Given the description of an element on the screen output the (x, y) to click on. 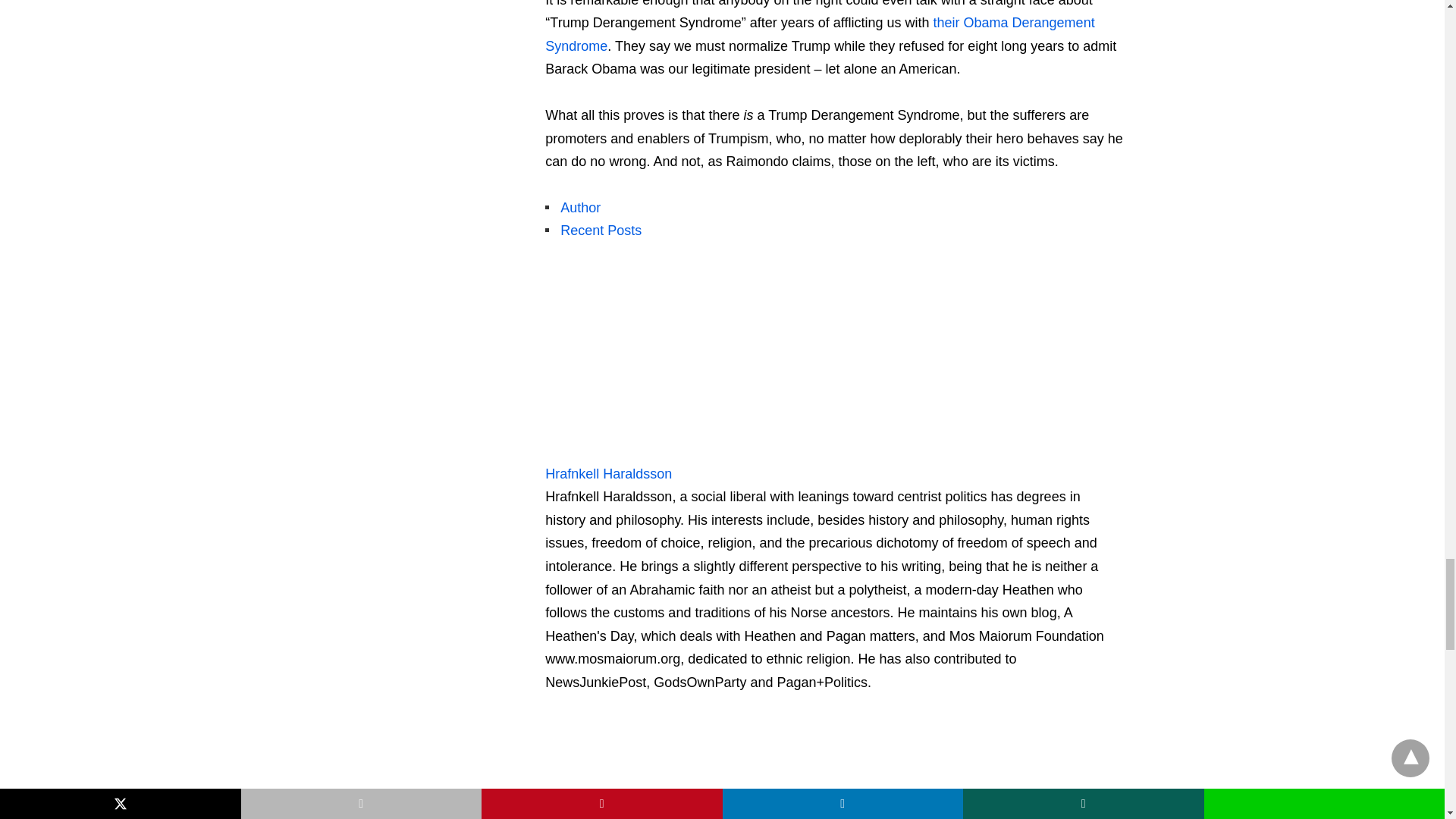
Hrafnkell Haraldsson (607, 473)
their Obama Derangement Syndrome (819, 34)
Author (579, 207)
Recent Posts (601, 230)
Hrafnkell Haraldsson (639, 450)
